Given the description of an element on the screen output the (x, y) to click on. 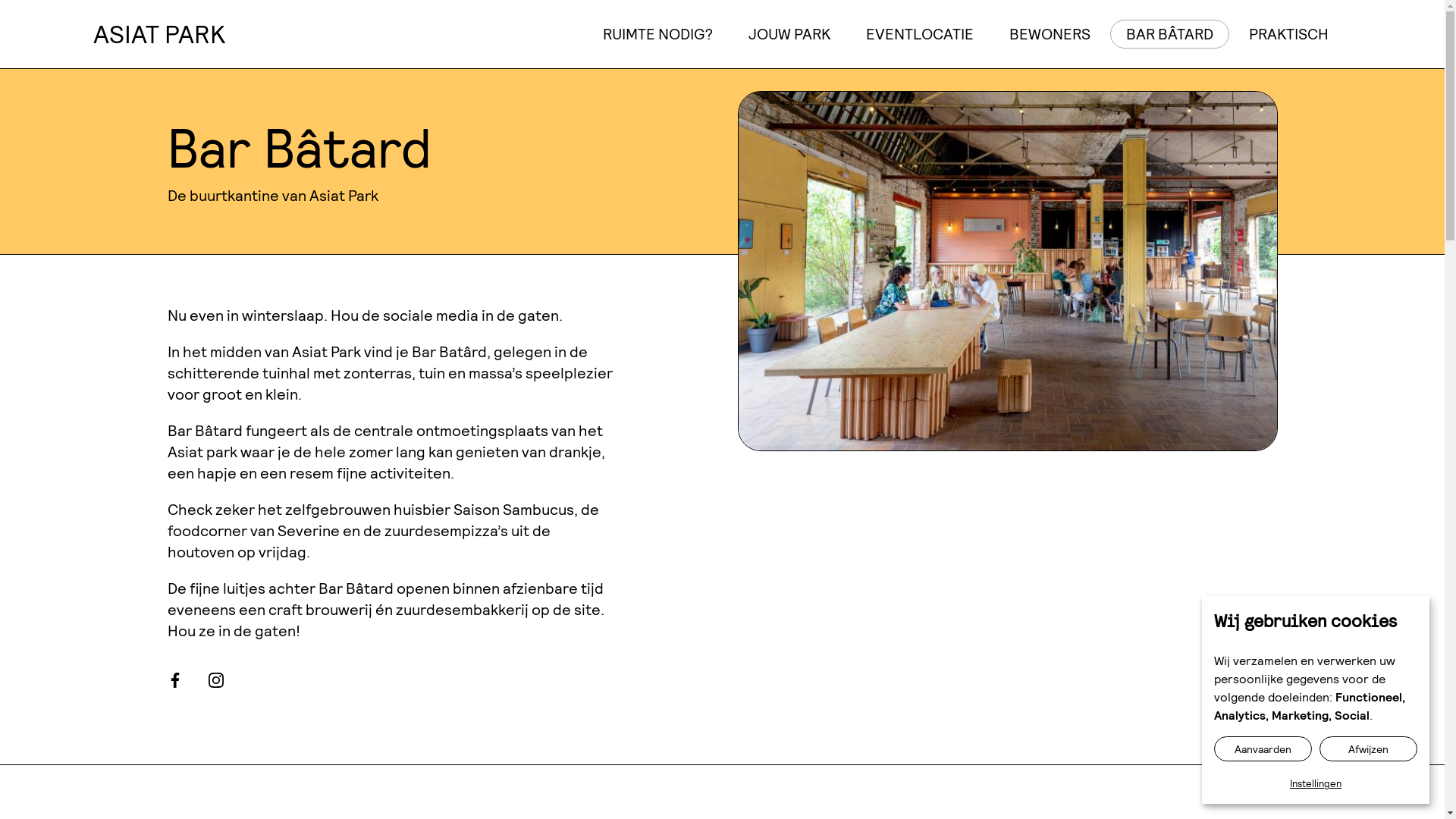
RUIMTE NODIG? Element type: text (657, 33)
EVENTLOCATIE Element type: text (918, 33)
Skip to main navigation Element type: text (0, 0)
Afwijzen Element type: text (1368, 748)
Instellingen Element type: text (1315, 783)
BEWONERS Element type: text (1049, 33)
ASIAT PARK Element type: text (158, 33)
Aanvaarden Element type: text (1262, 748)
PRAKTISCH Element type: text (1288, 33)
JOUW PARK Element type: text (789, 33)
